Given the description of an element on the screen output the (x, y) to click on. 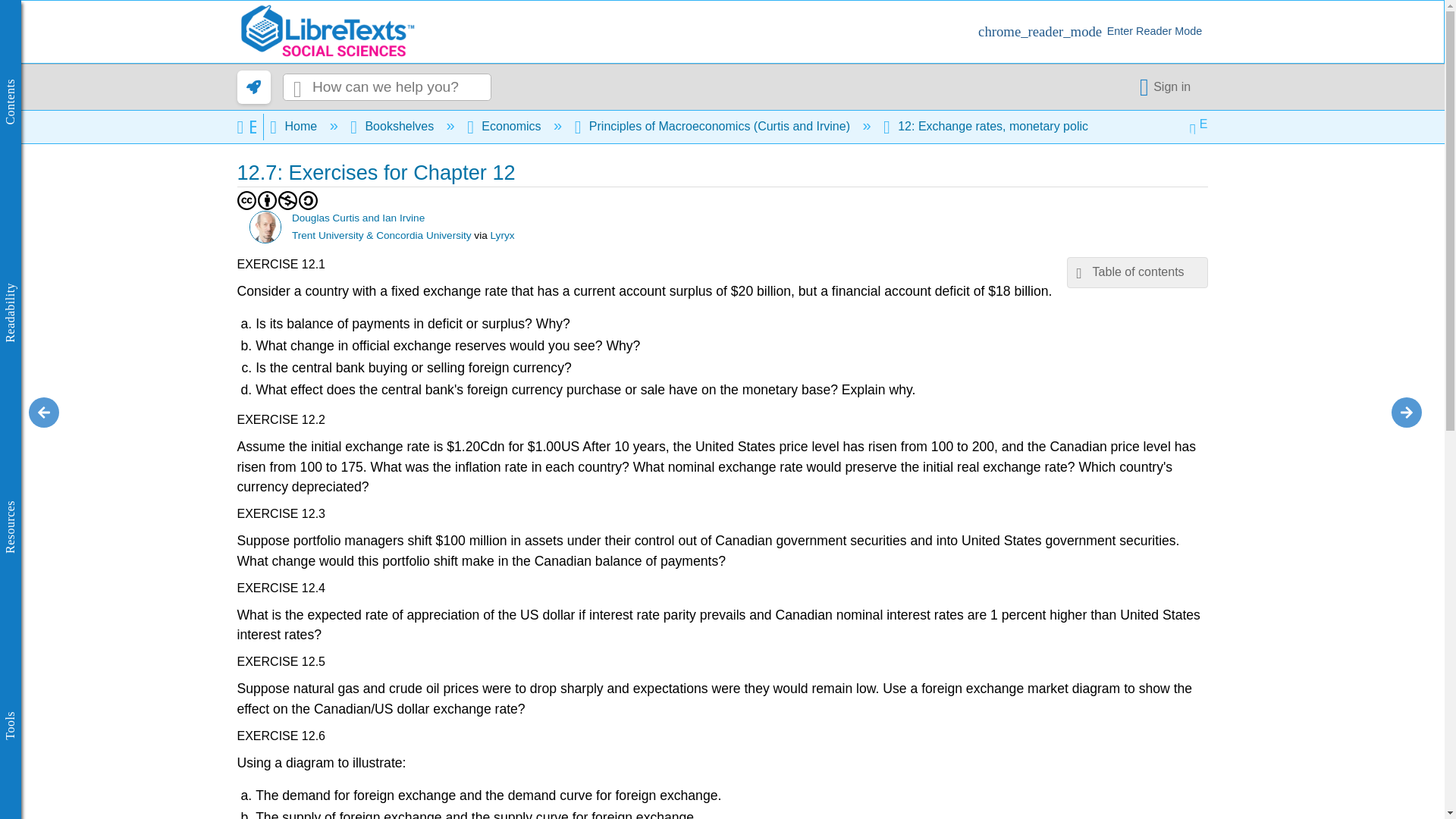
Single Sign-On (1167, 86)
NC (288, 199)
SA (307, 199)
BY (267, 199)
CC (246, 199)
Douglas Curtis and Ian Irvine (265, 226)
